Given the description of an element on the screen output the (x, y) to click on. 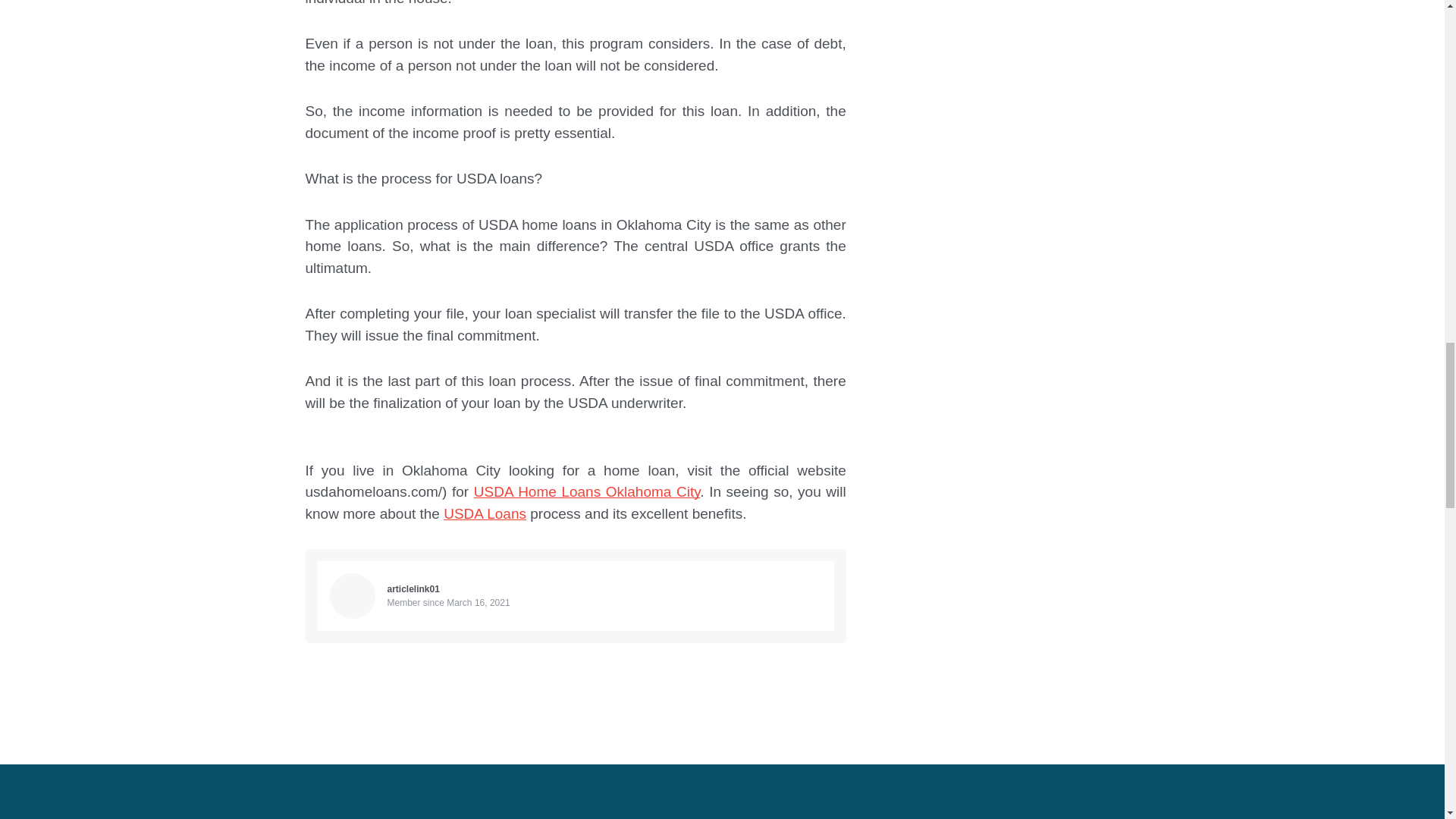
articlelink01 (413, 588)
USDA Loans (484, 513)
USDA Home Loans Oklahoma City (587, 491)
